Given the description of an element on the screen output the (x, y) to click on. 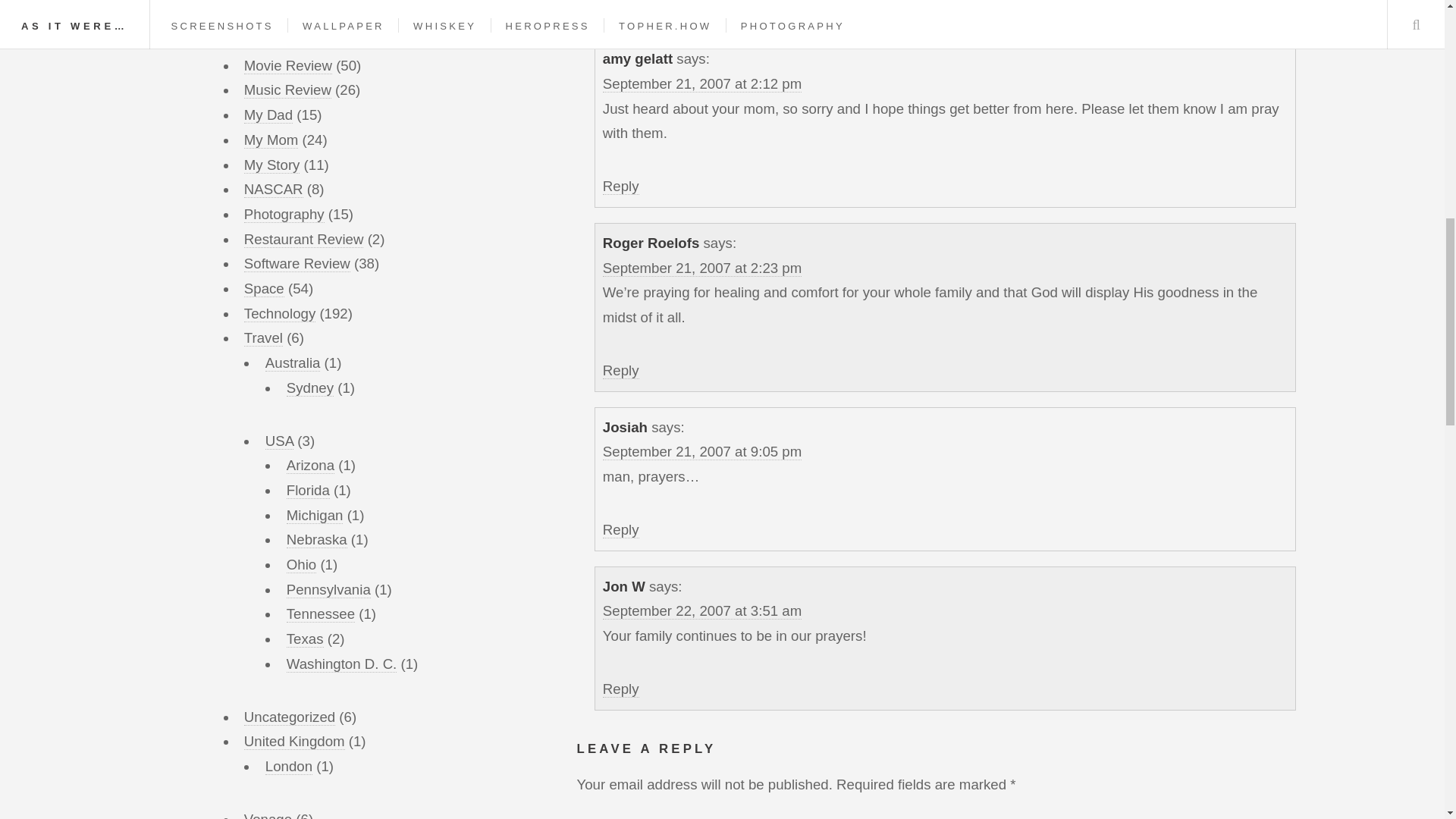
September 21, 2007 at 2:23 pm (702, 268)
Reply (620, 186)
September 21, 2007 at 9:05 pm (702, 451)
Reply (620, 370)
Reply (620, 529)
Reply (620, 688)
September 21, 2007 at 2:12 pm (702, 84)
Hardware Review (299, 15)
September 22, 2007 at 3:51 am (702, 610)
